Given the description of an element on the screen output the (x, y) to click on. 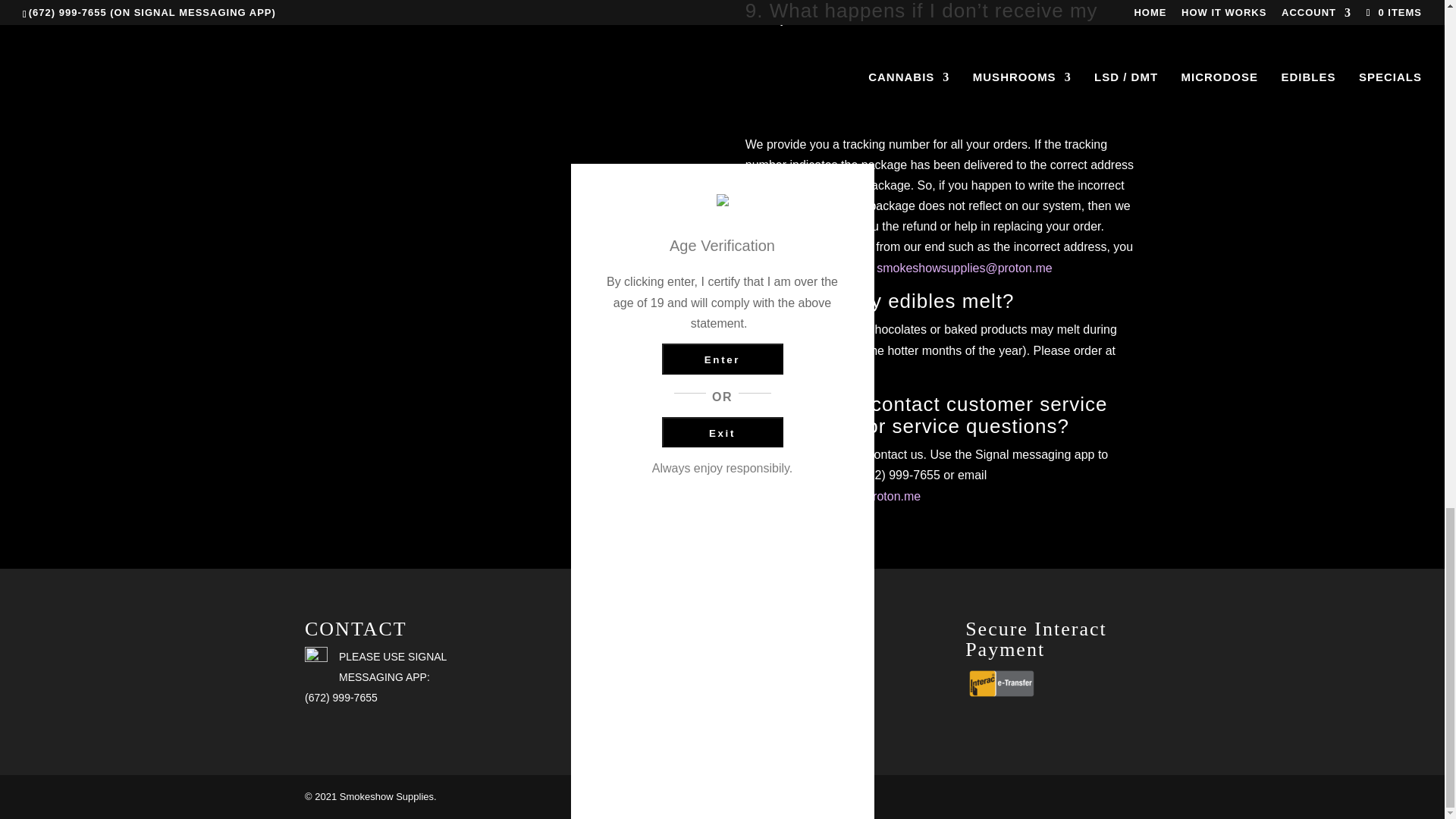
HOME (771, 656)
ACCOUNT (781, 697)
HOW IT WORKS (796, 676)
